Given the description of an element on the screen output the (x, y) to click on. 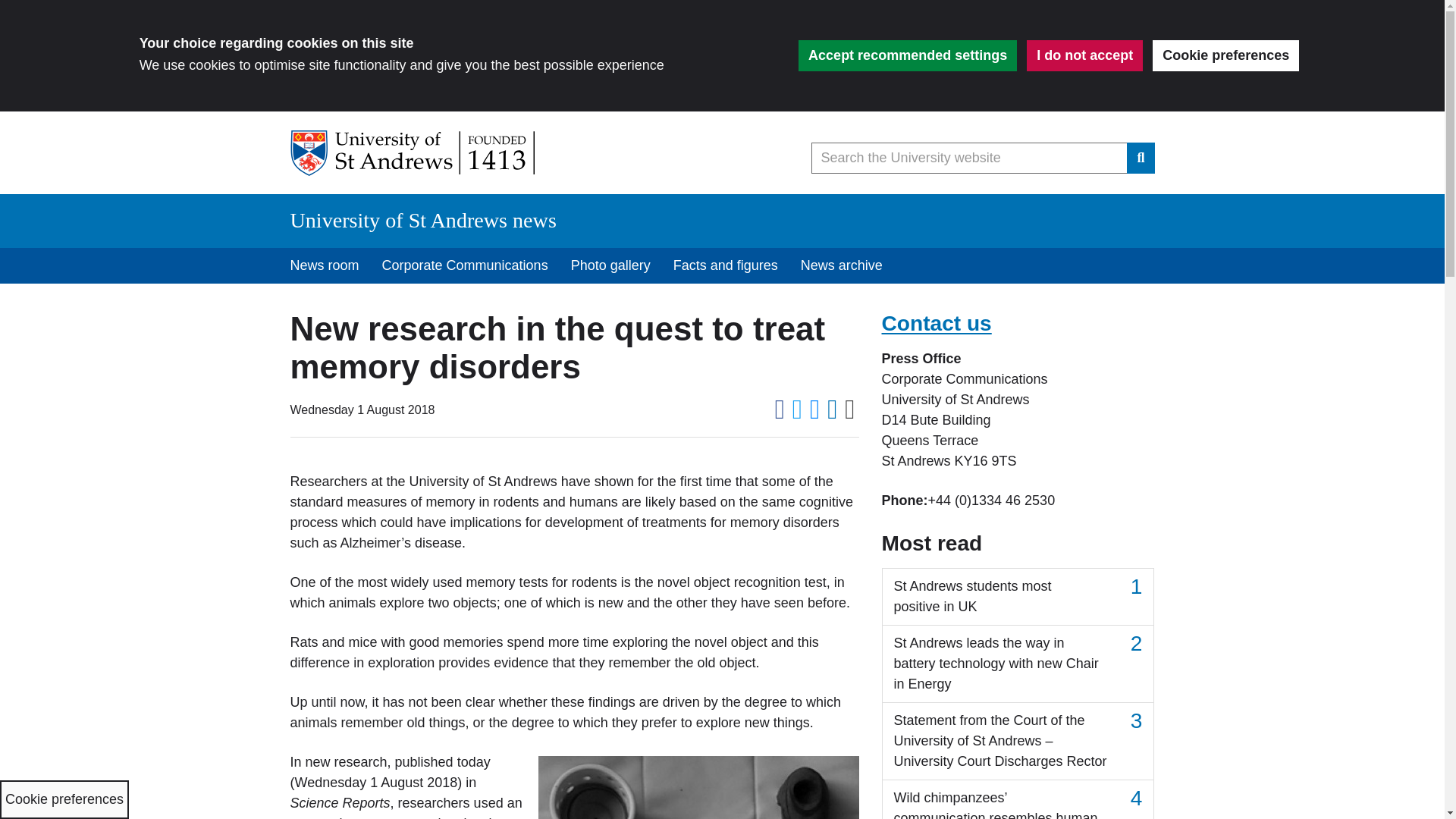
I do not accept (1084, 55)
Facts and figures (725, 265)
Photo gallery (610, 265)
Corporate Communications (465, 265)
University of St Andrews news (422, 219)
St Andrews students most positive in UK (1017, 596)
Accept recommended settings (906, 55)
Contact us (935, 323)
Cookie preferences (1225, 55)
News archive (841, 265)
News room (325, 265)
